Given the description of an element on the screen output the (x, y) to click on. 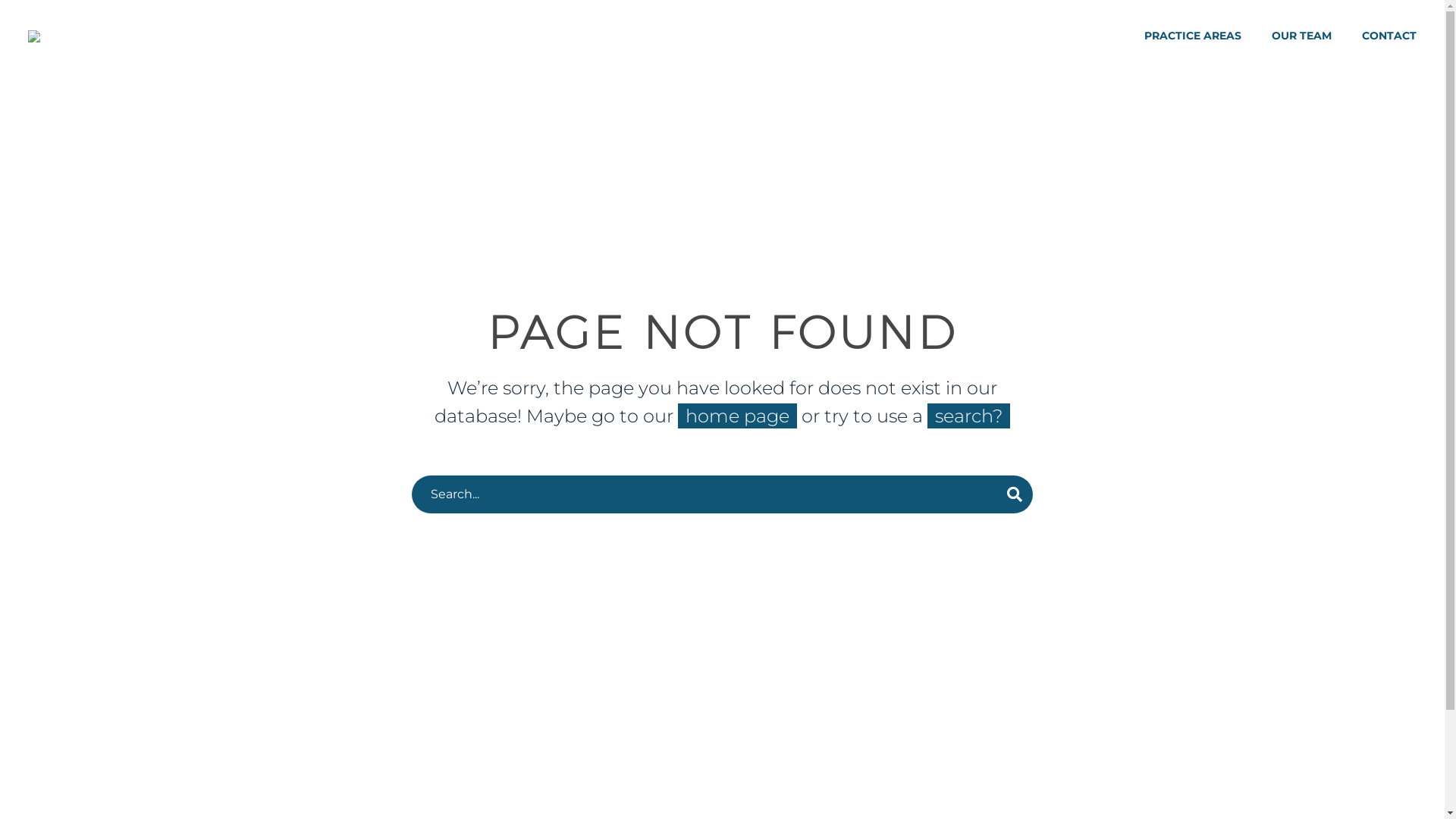
PRACTICE AREAS Element type: text (1192, 36)
home page Element type: text (737, 415)
search? Element type: text (968, 415)
OUR TEAM Element type: text (1301, 36)
CONTACT Element type: text (1388, 36)
